Given the description of an element on the screen output the (x, y) to click on. 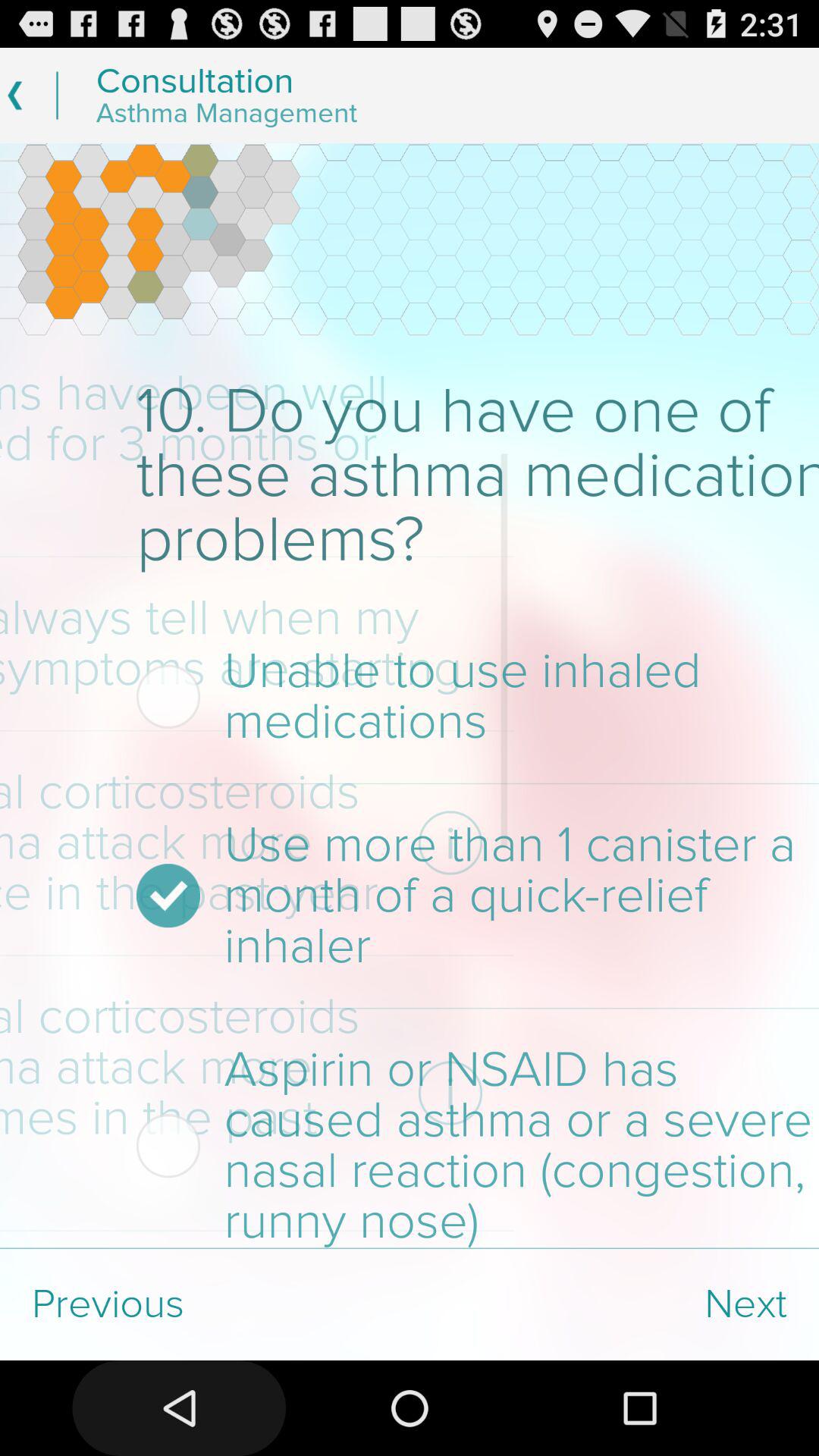
open next icon (614, 1304)
